Given the description of an element on the screen output the (x, y) to click on. 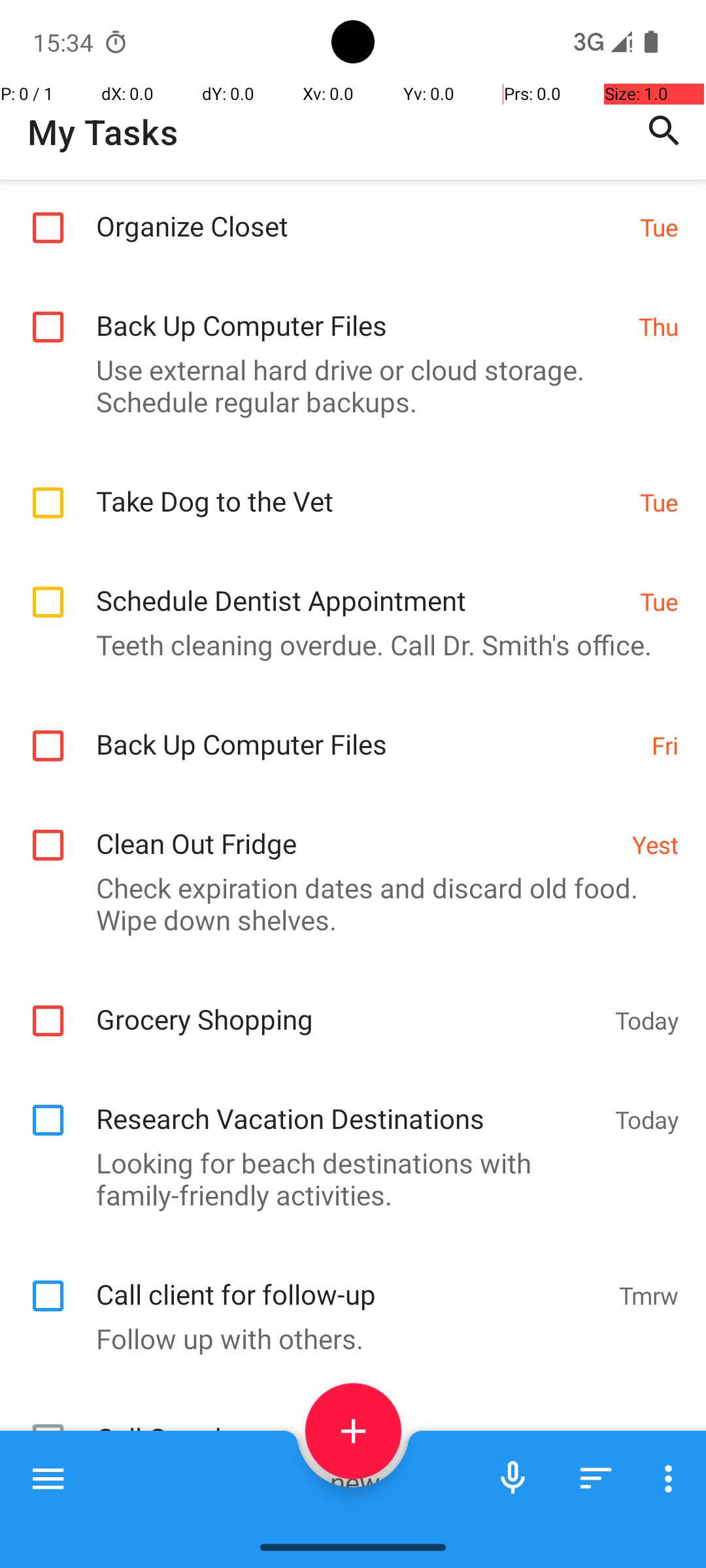
Call client for follow-up Element type: android.widget.TextView (350, 1279)
Follow up with others. Element type: android.widget.TextView (346, 1337)
